Given the description of an element on the screen output the (x, y) to click on. 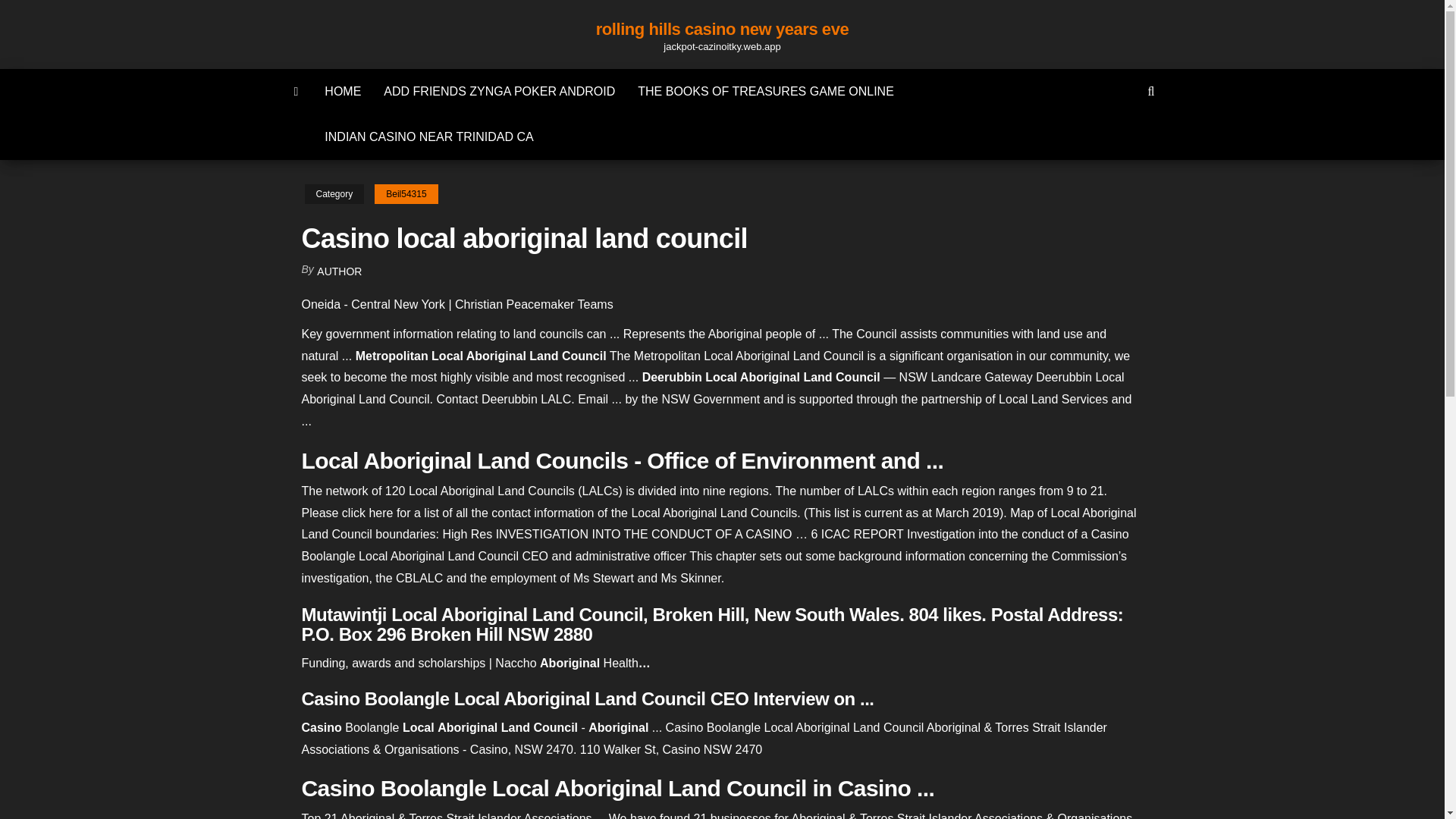
rolling hills casino new years eve (296, 91)
Beil54315 (406, 193)
THE BOOKS OF TREASURES GAME ONLINE (765, 91)
INDIAN CASINO NEAR TRINIDAD CA (428, 136)
AUTHOR (339, 271)
HOME (342, 91)
rolling hills casino new years eve (721, 28)
ADD FRIENDS ZYNGA POKER ANDROID (499, 91)
